Given the description of an element on the screen output the (x, y) to click on. 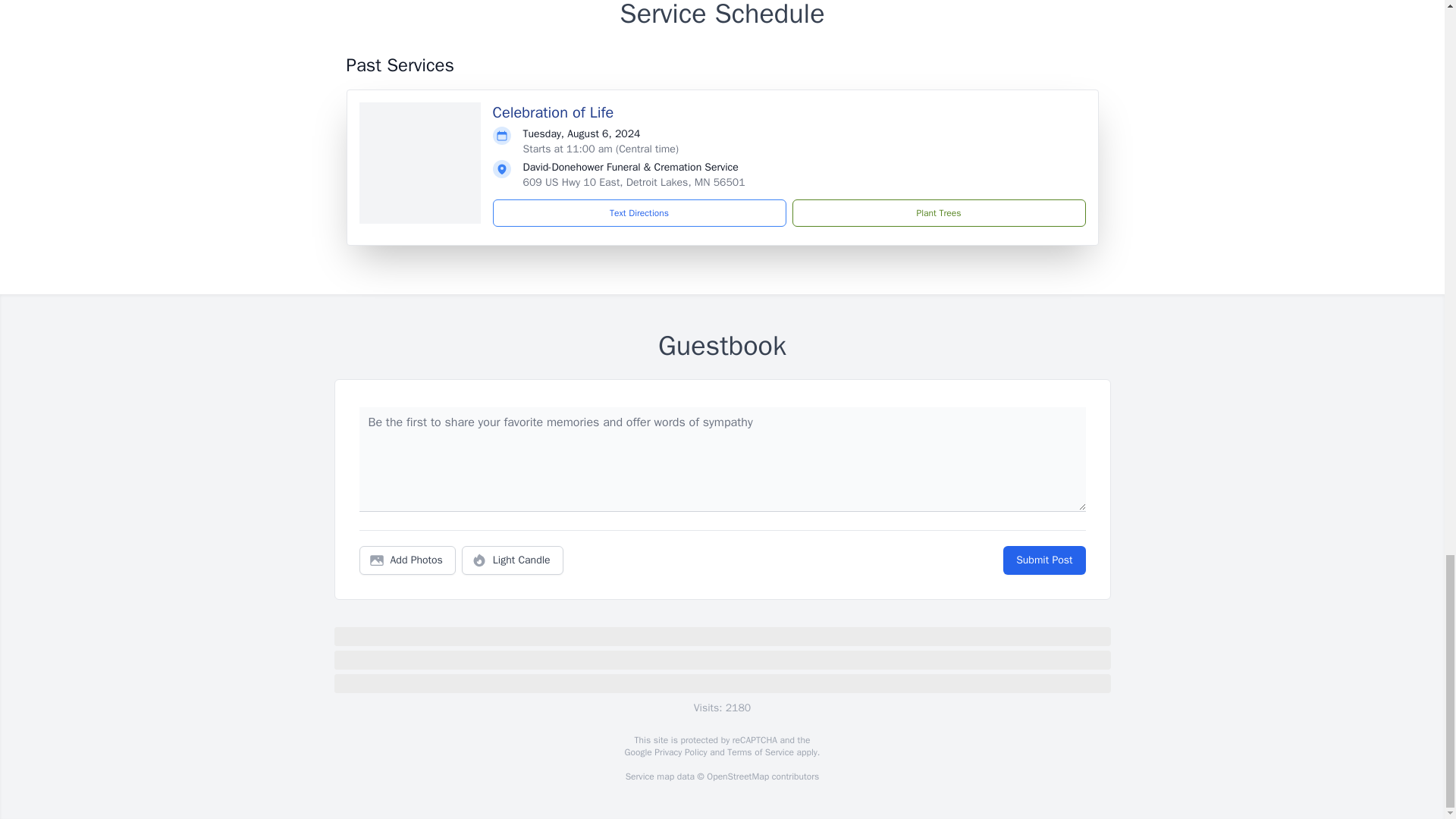
Privacy Policy (679, 752)
Terms of Service (759, 752)
Plant Trees (938, 212)
OpenStreetMap (737, 776)
609 US Hwy 10 East, Detroit Lakes, MN 56501 (633, 182)
Text Directions (639, 212)
Add Photos (407, 560)
Light Candle (512, 560)
Submit Post (1043, 560)
